Given the description of an element on the screen output the (x, y) to click on. 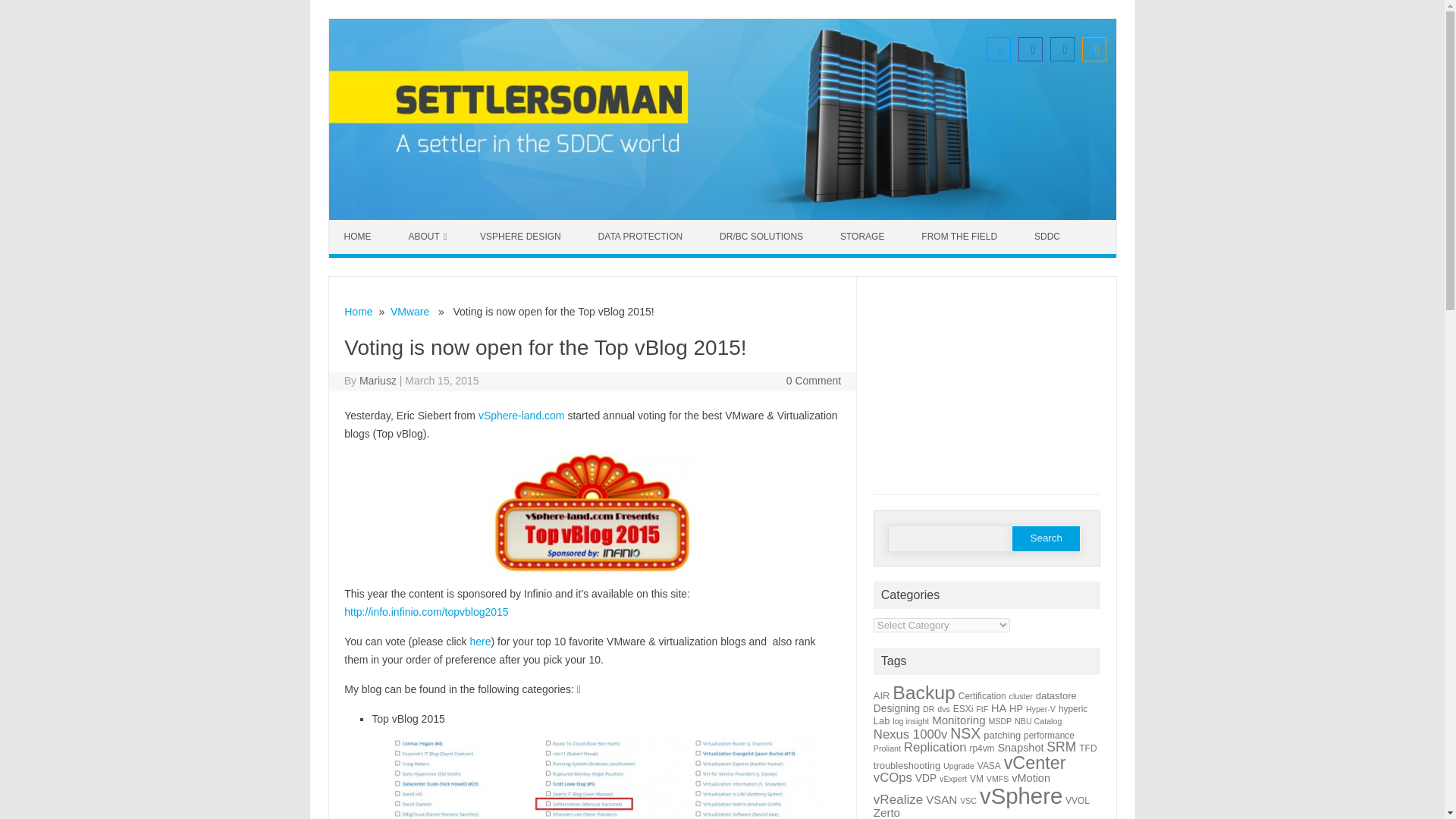
Skip to content (363, 225)
STORAGE (863, 236)
DATA PROTECTION (642, 236)
Posts by Mariusz (377, 380)
ABOUT (427, 236)
here (481, 641)
Mariusz (377, 380)
Skip to content (363, 225)
SDDC (1048, 236)
Home (357, 311)
